Given the description of an element on the screen output the (x, y) to click on. 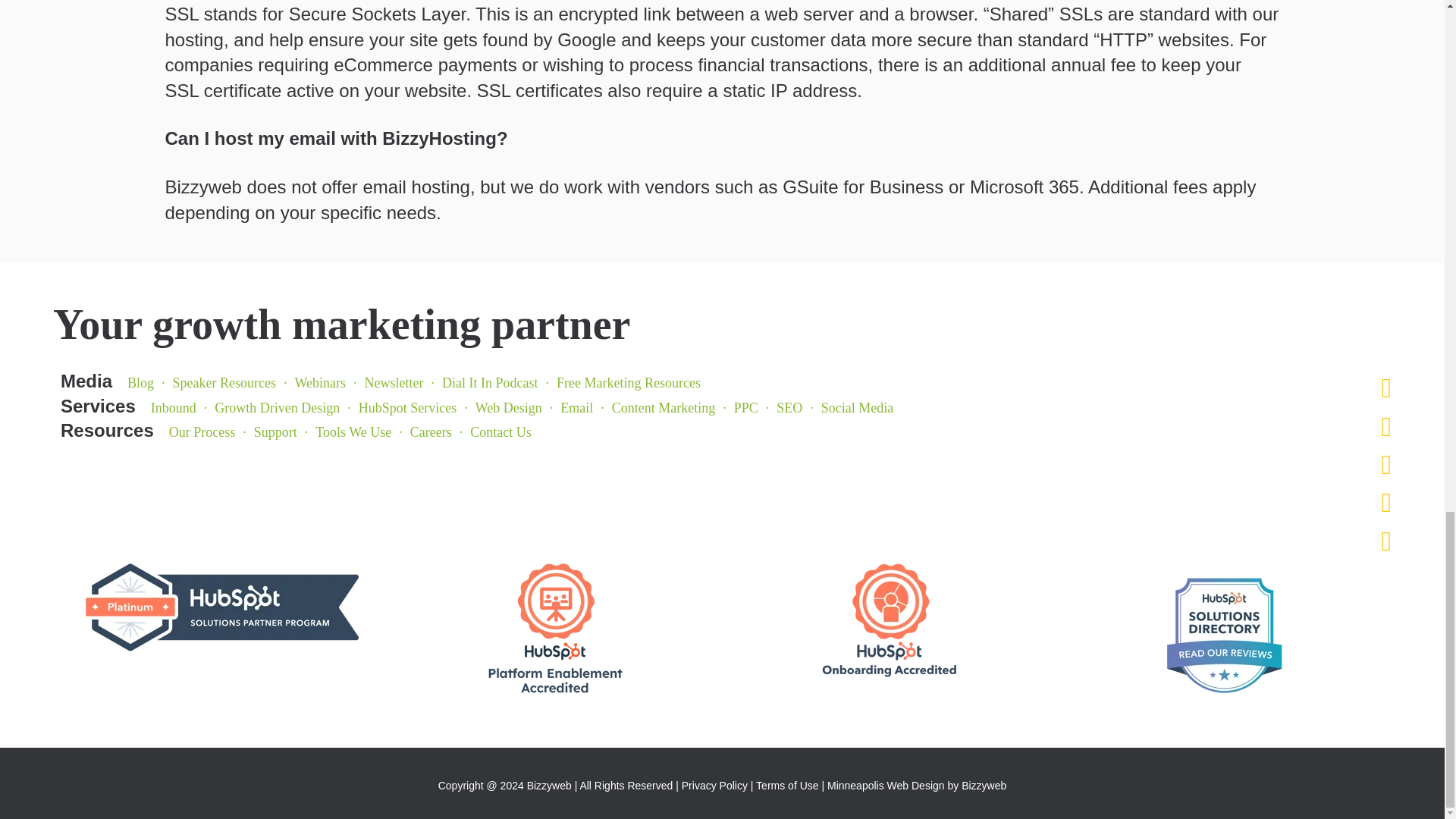
Blog (140, 382)
Newsletter (391, 382)
Webinars (318, 382)
Free Marketing Resources (625, 382)
Dial It In Podcast (487, 382)
Speaker Resources (222, 382)
Media (85, 381)
